Given the description of an element on the screen output the (x, y) to click on. 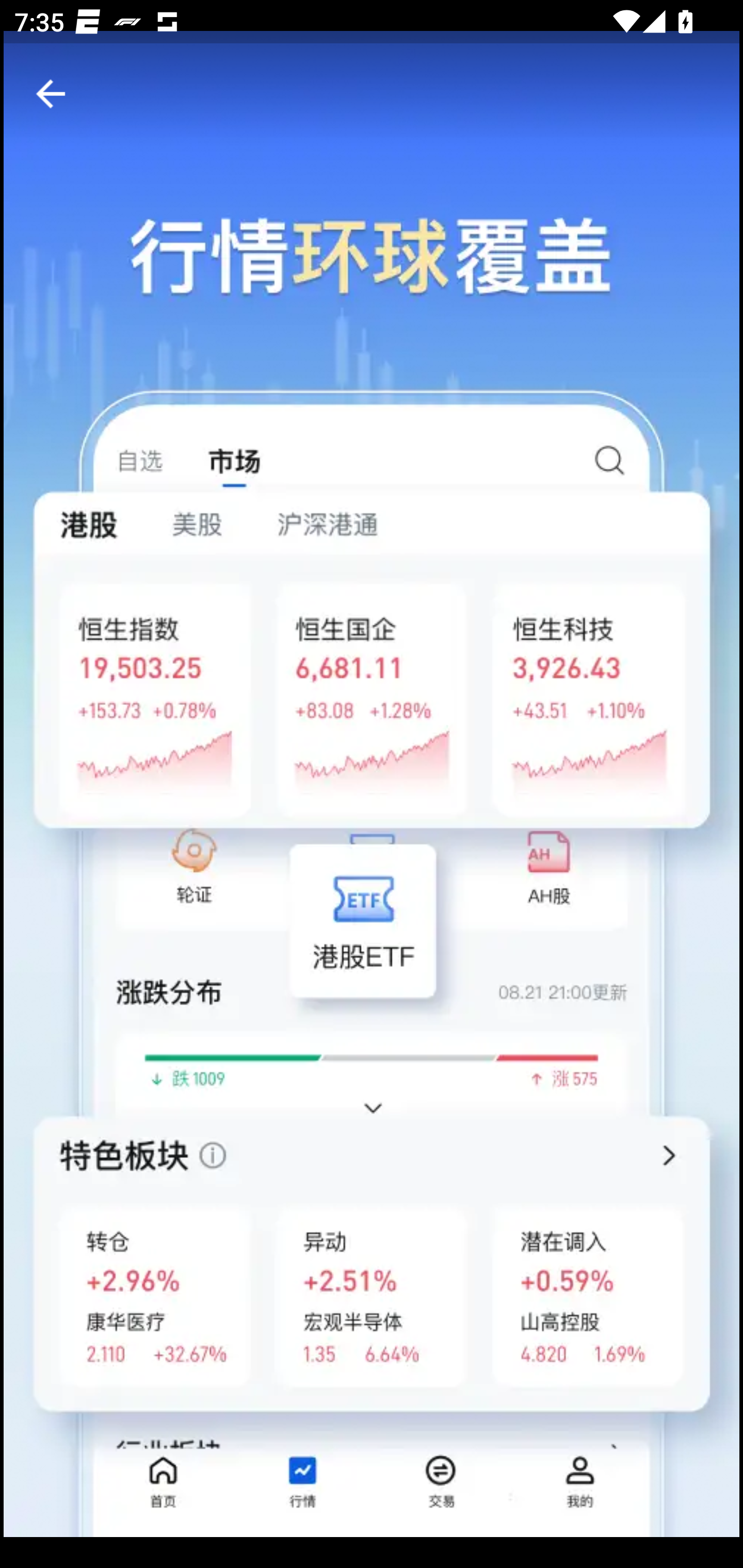
Back (50, 93)
